Given the description of an element on the screen output the (x, y) to click on. 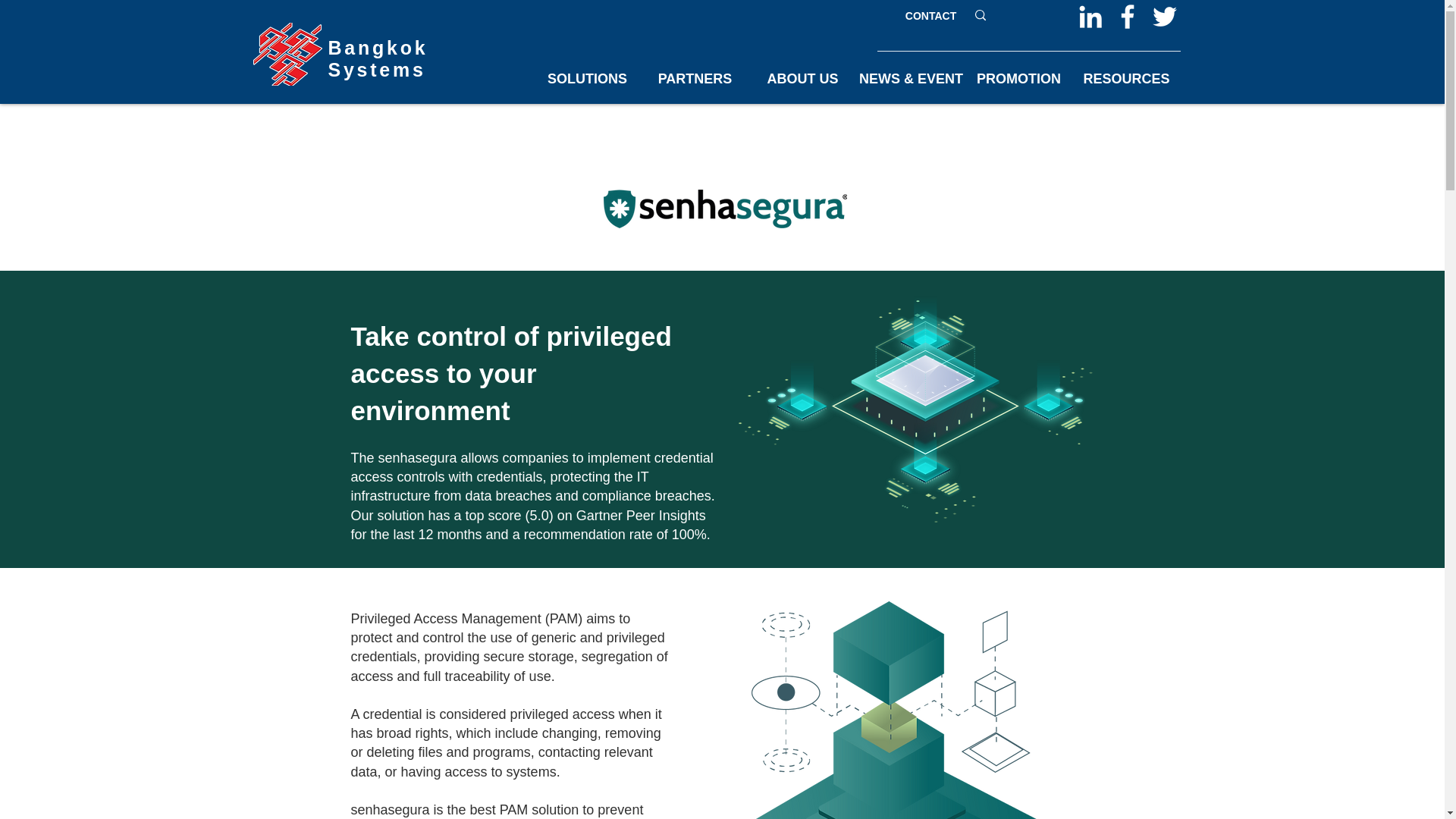
PROMOTION (1017, 79)
CONTACT (930, 16)
RESOURCES (1125, 79)
ABOUT US (803, 79)
Bangkok Systems (377, 58)
SOLUTIONS (588, 79)
PARTNERS (695, 79)
